Given the description of an element on the screen output the (x, y) to click on. 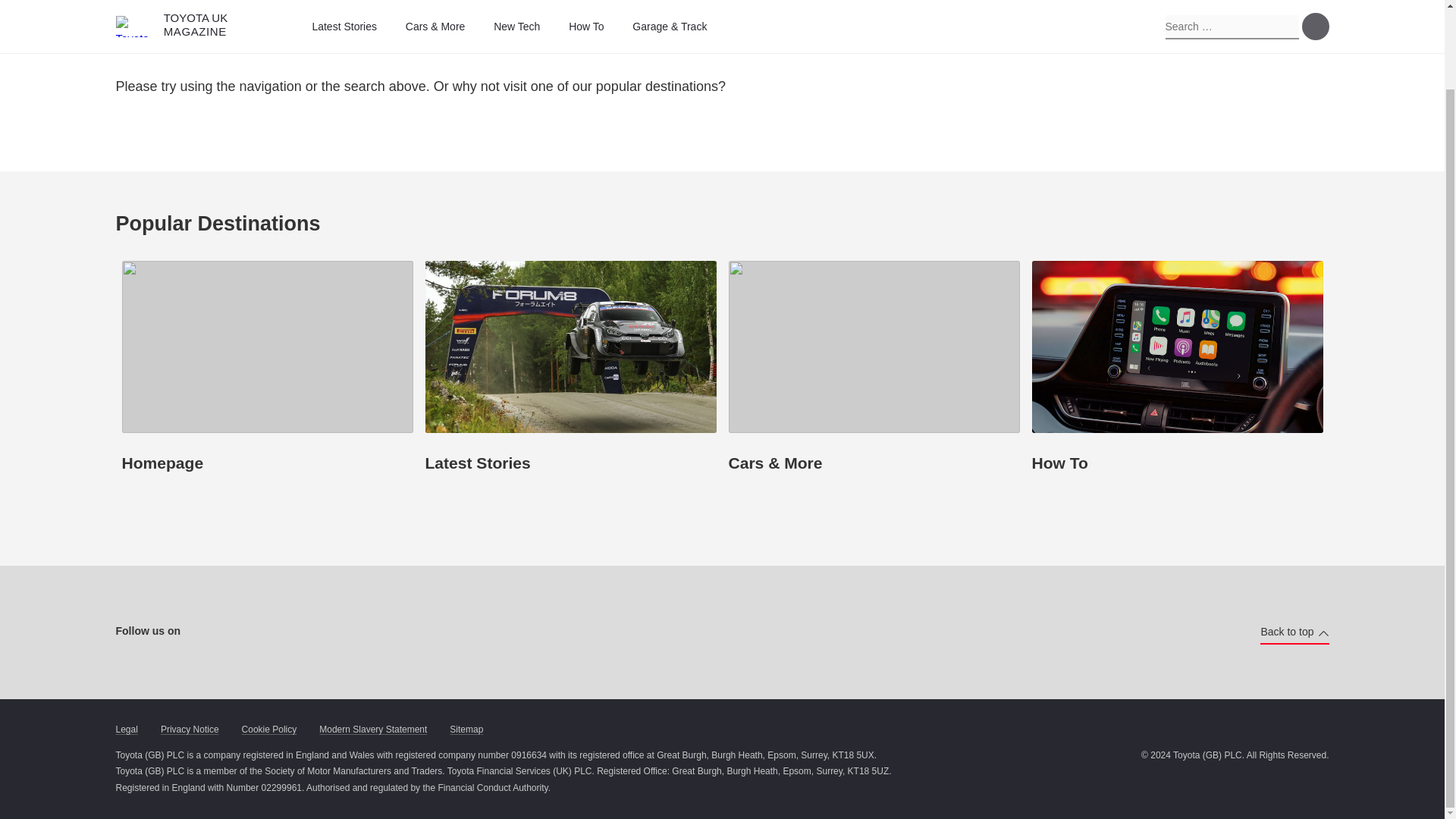
Modern Slavery Statement (372, 729)
Sitemap (466, 729)
Cookie Policy (269, 729)
Twitter (262, 632)
Privacy Notice (189, 729)
Instagram (234, 632)
Facebook (207, 632)
LinkedIn (350, 632)
Back to top (1294, 632)
Legal (125, 729)
Youtube (292, 632)
Back to top (1294, 632)
Pinterest (322, 632)
